Given the description of an element on the screen output the (x, y) to click on. 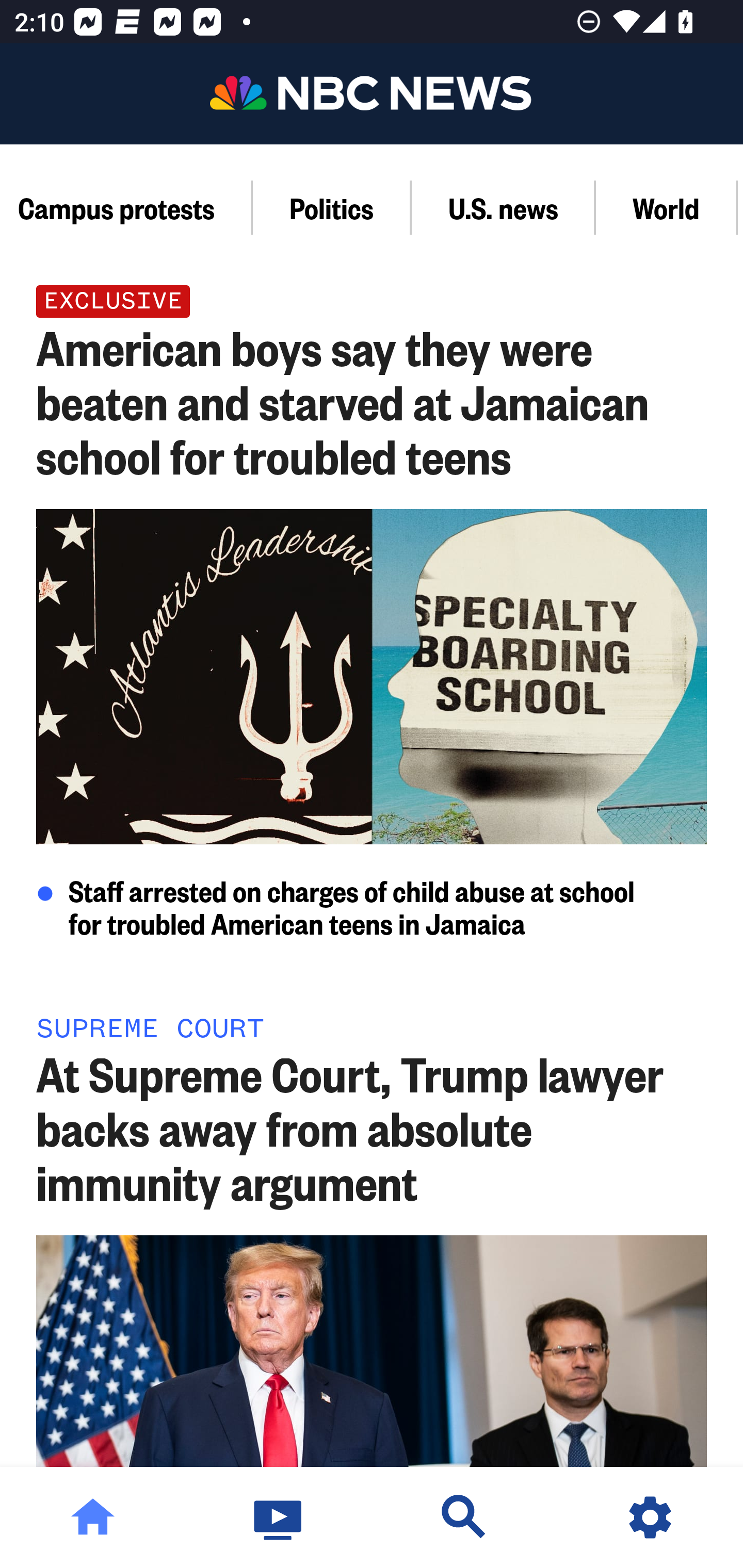
Campus protests (126, 207)
Politics Section,Politics (331, 207)
U.S. news Section,U.S. news (503, 207)
World Section,World (666, 207)
Watch (278, 1517)
Discover (464, 1517)
Settings (650, 1517)
